Given the description of an element on the screen output the (x, y) to click on. 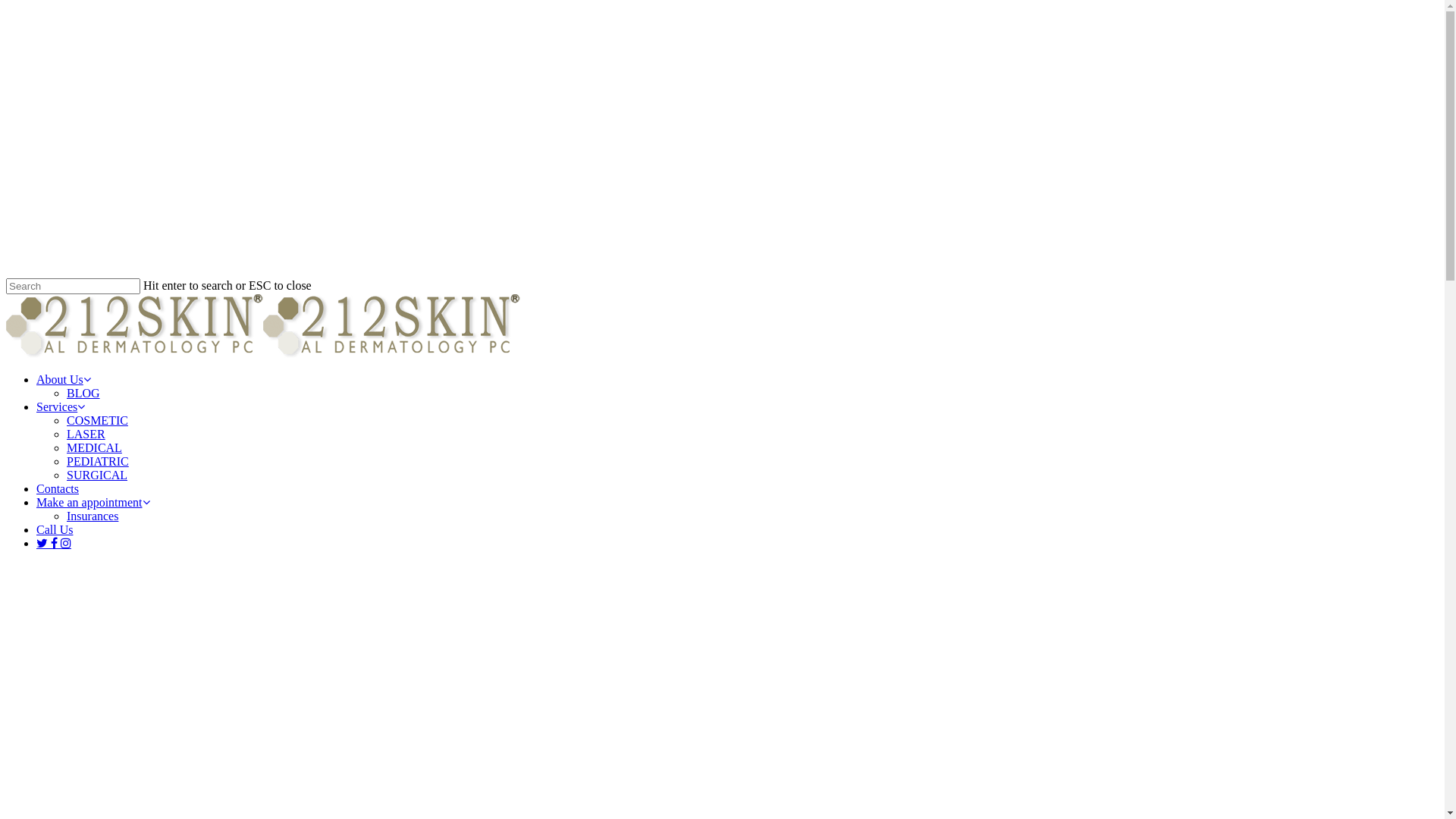
Call Us Element type: text (54, 529)
PEDIATRIC Element type: text (97, 461)
Contacts Element type: text (57, 488)
About Us Element type: text (63, 379)
twitter Element type: text (43, 542)
Insurances Element type: text (92, 515)
SURGICAL Element type: text (96, 474)
LASER Element type: text (85, 433)
Services Element type: text (60, 406)
facebook Element type: text (55, 542)
instagram Element type: text (65, 542)
BLOG Element type: text (83, 392)
Skip to main content Element type: text (5, 5)
Make an appointment Element type: text (93, 501)
MEDICAL Element type: text (94, 447)
COSMETIC Element type: text (97, 420)
